Given the description of an element on the screen output the (x, y) to click on. 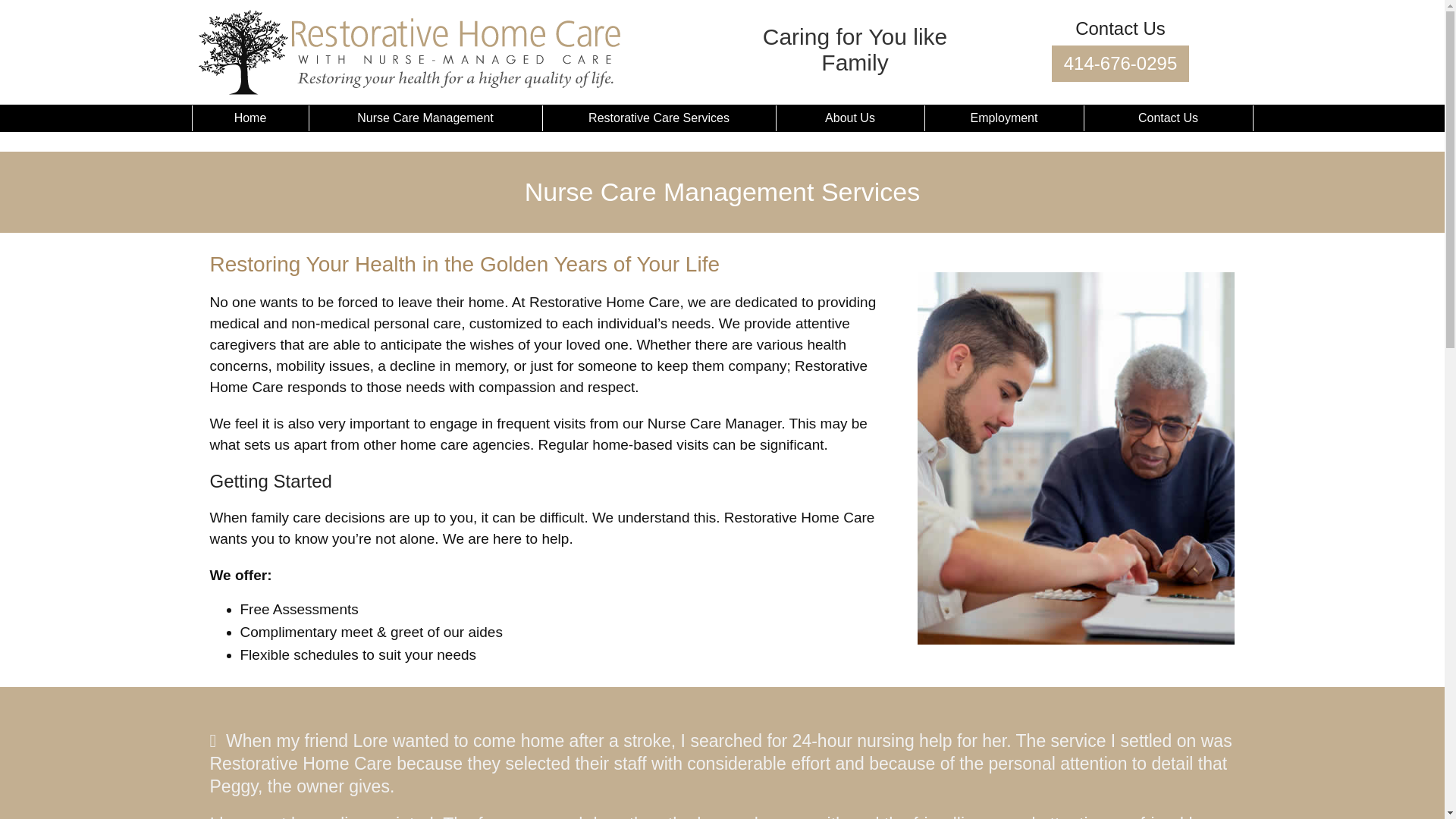
414-676-0295 (1120, 63)
About Us (848, 117)
Home (248, 117)
Contact Us (1167, 117)
Contact Restorative Home Care for Nurse Managed Care (1120, 63)
Employment (1003, 117)
Restorative Home Care with Nurse Managed Care (248, 117)
Restorative Care Services (657, 117)
Contact Restorative Home Care with Nurse Managed Care (1167, 117)
Restorative Home Care with Nurse Managed Care (408, 51)
Nurse Care Management (424, 117)
